Given the description of an element on the screen output the (x, y) to click on. 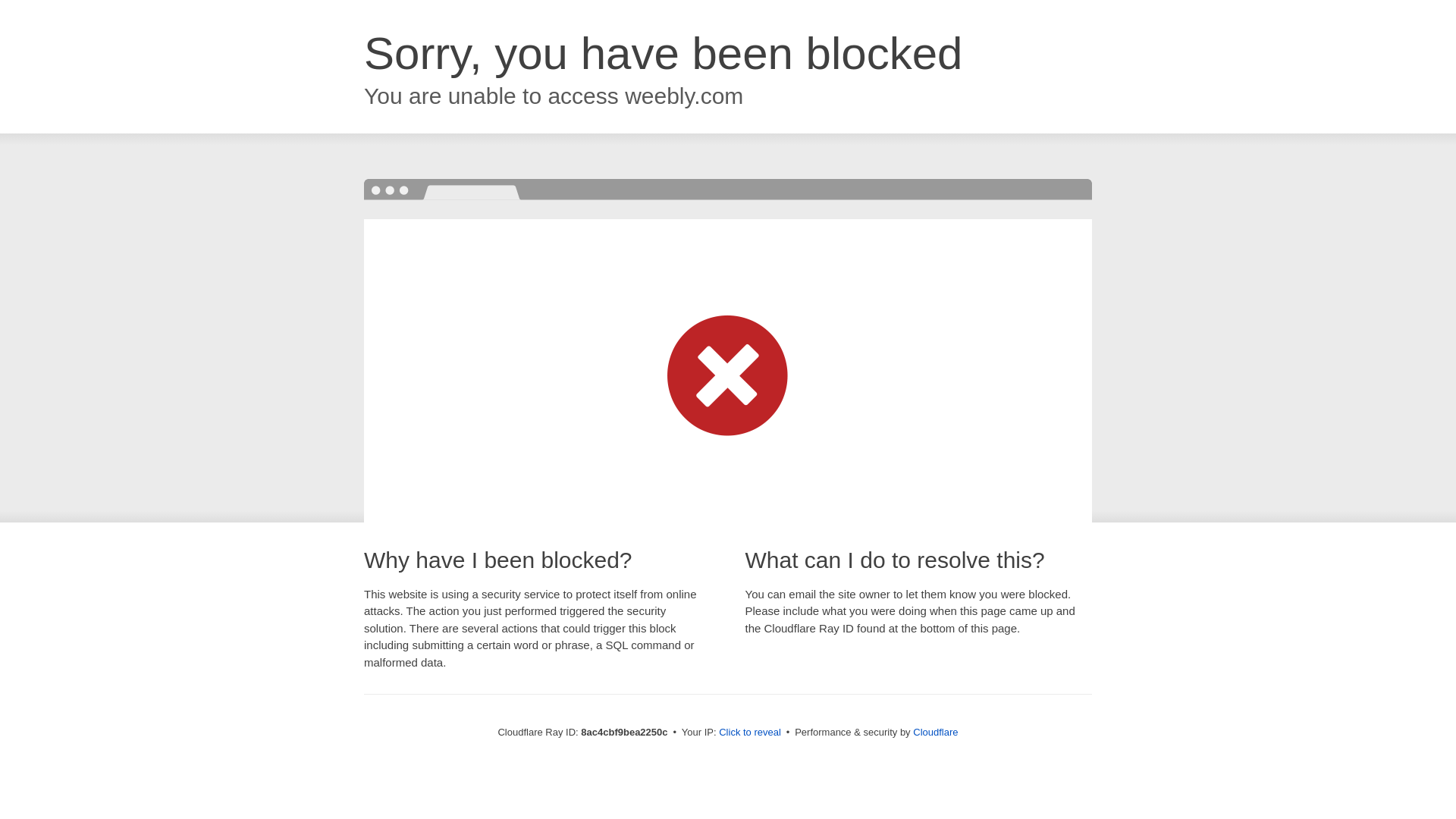
Click to reveal (749, 732)
Cloudflare (935, 731)
